Given the description of an element on the screen output the (x, y) to click on. 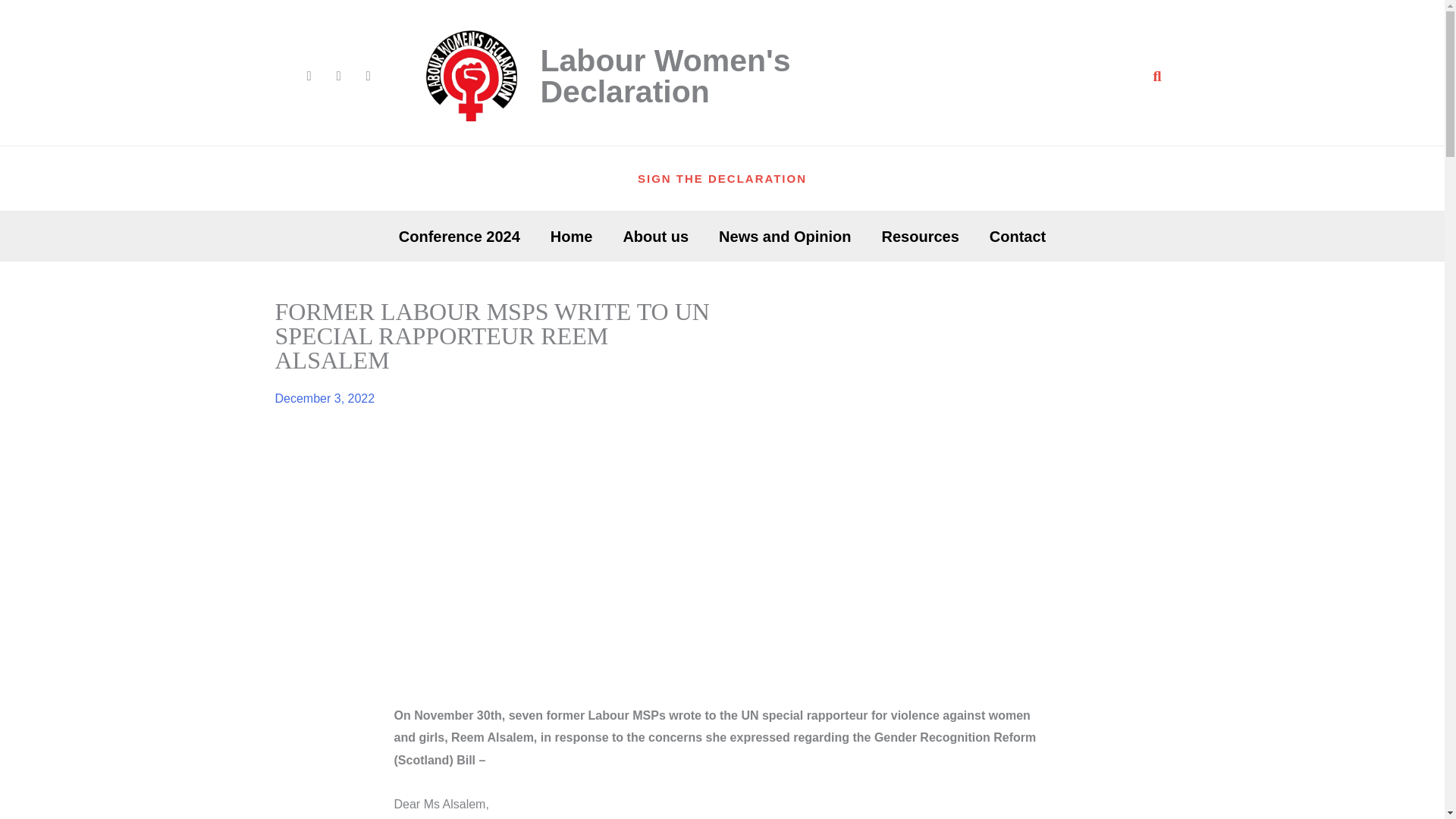
Conference 2024 (459, 236)
December 3, 2022 (324, 398)
Youtube (367, 76)
News and Opinion (784, 236)
Contact (1017, 236)
Resources (920, 236)
Facebook (339, 76)
Home (571, 236)
About us (655, 236)
Labour Women'S Declaration (665, 75)
